Given the description of an element on the screen output the (x, y) to click on. 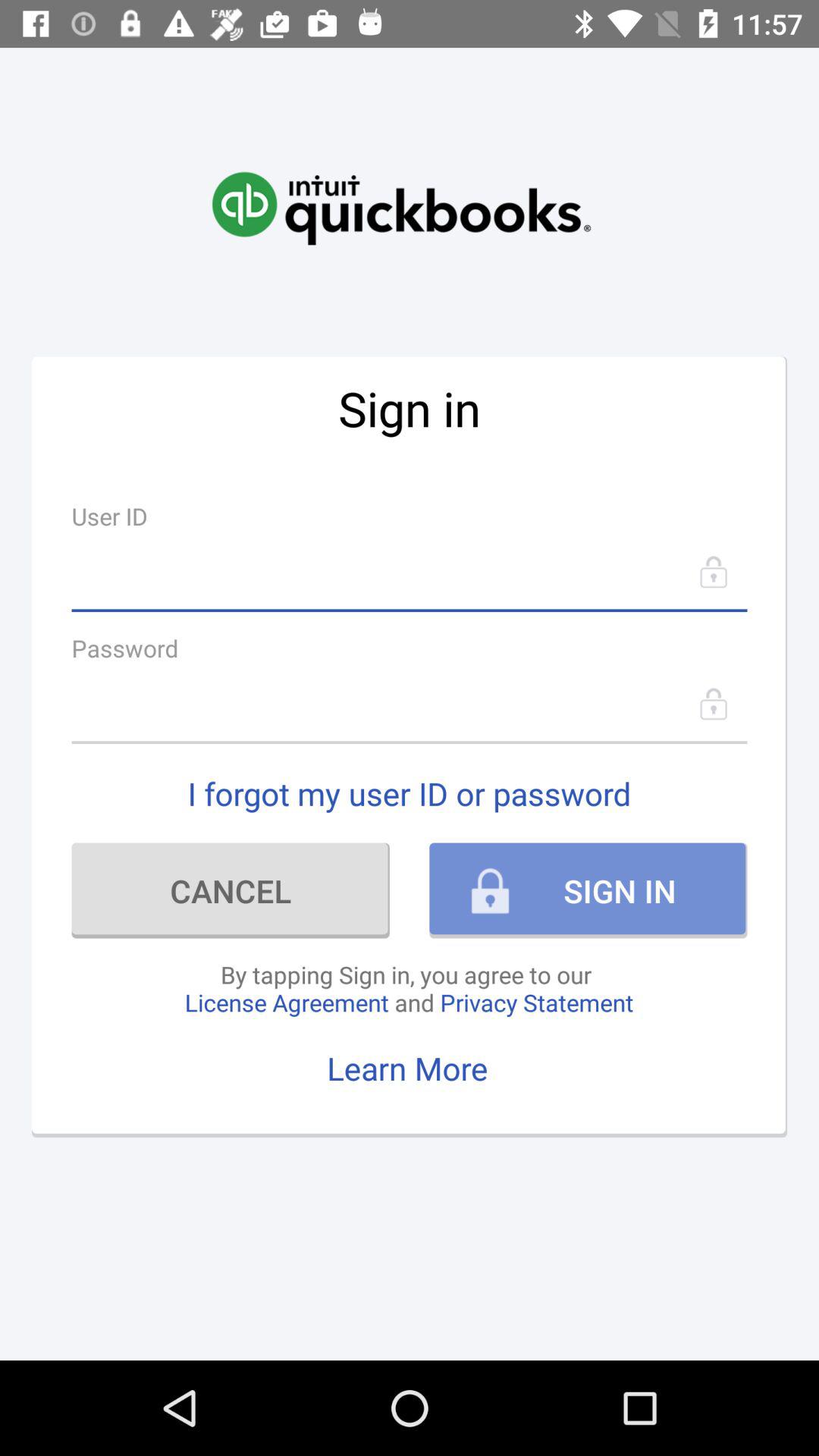
launch icon below user id (409, 571)
